Given the description of an element on the screen output the (x, y) to click on. 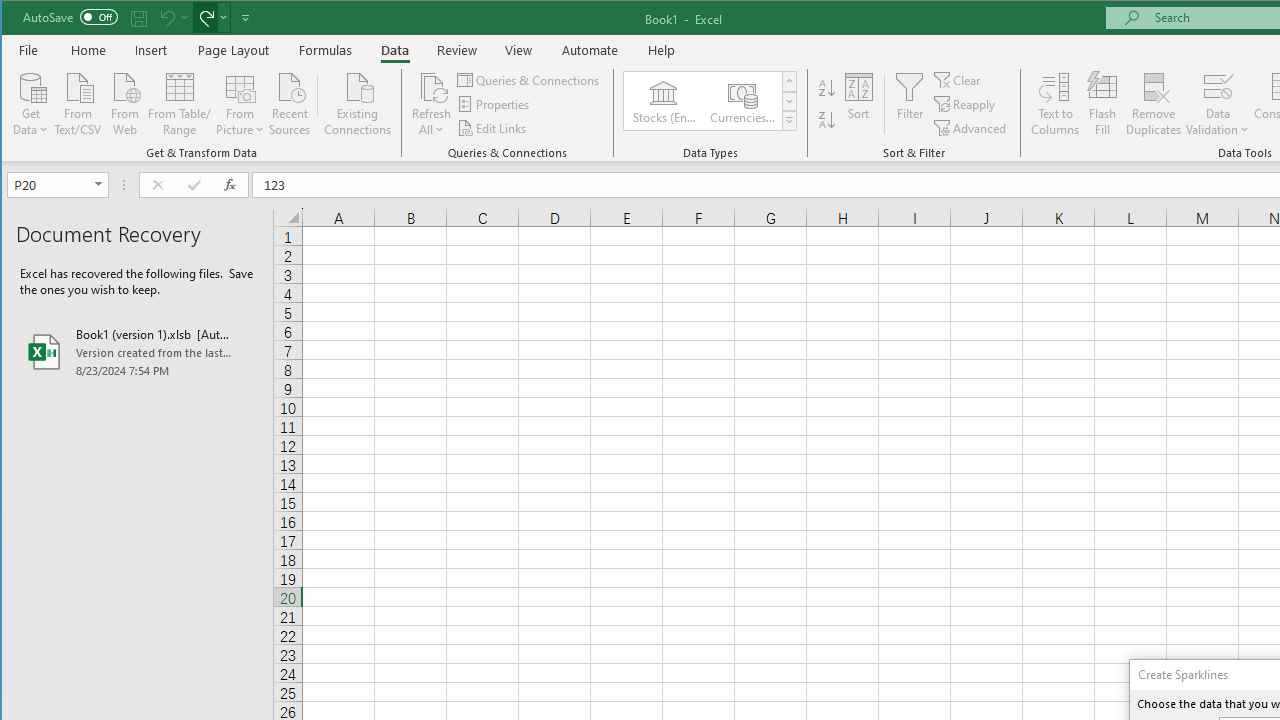
From Web (124, 101)
Queries & Connections (529, 80)
Flash Fill (1102, 104)
Properties (495, 103)
Existing Connections (358, 101)
Row up (789, 81)
Get Data (31, 101)
